Given the description of an element on the screen output the (x, y) to click on. 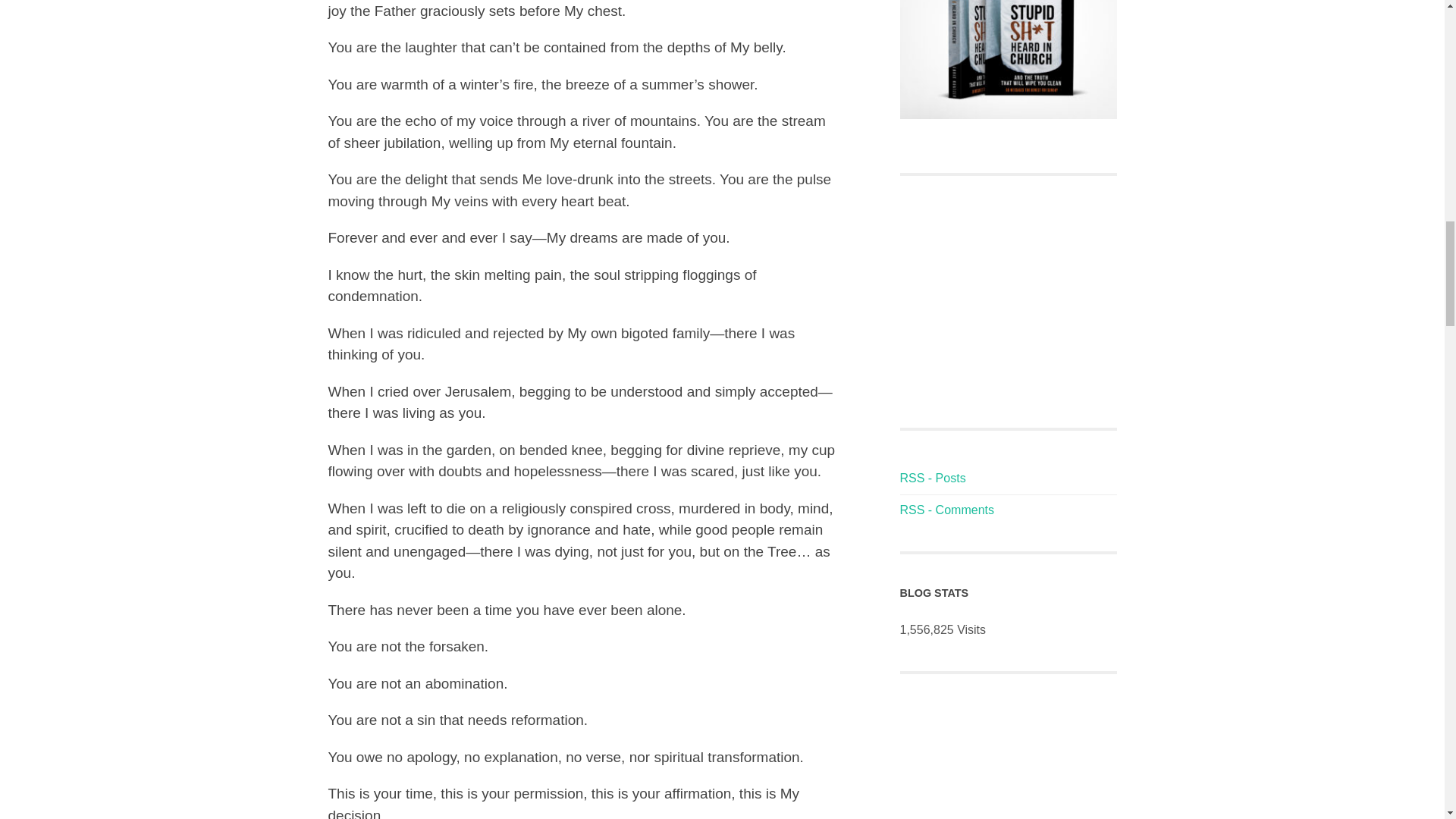
Subscribe to posts (932, 477)
Subscribe to comments (945, 509)
